Given the description of an element on the screen output the (x, y) to click on. 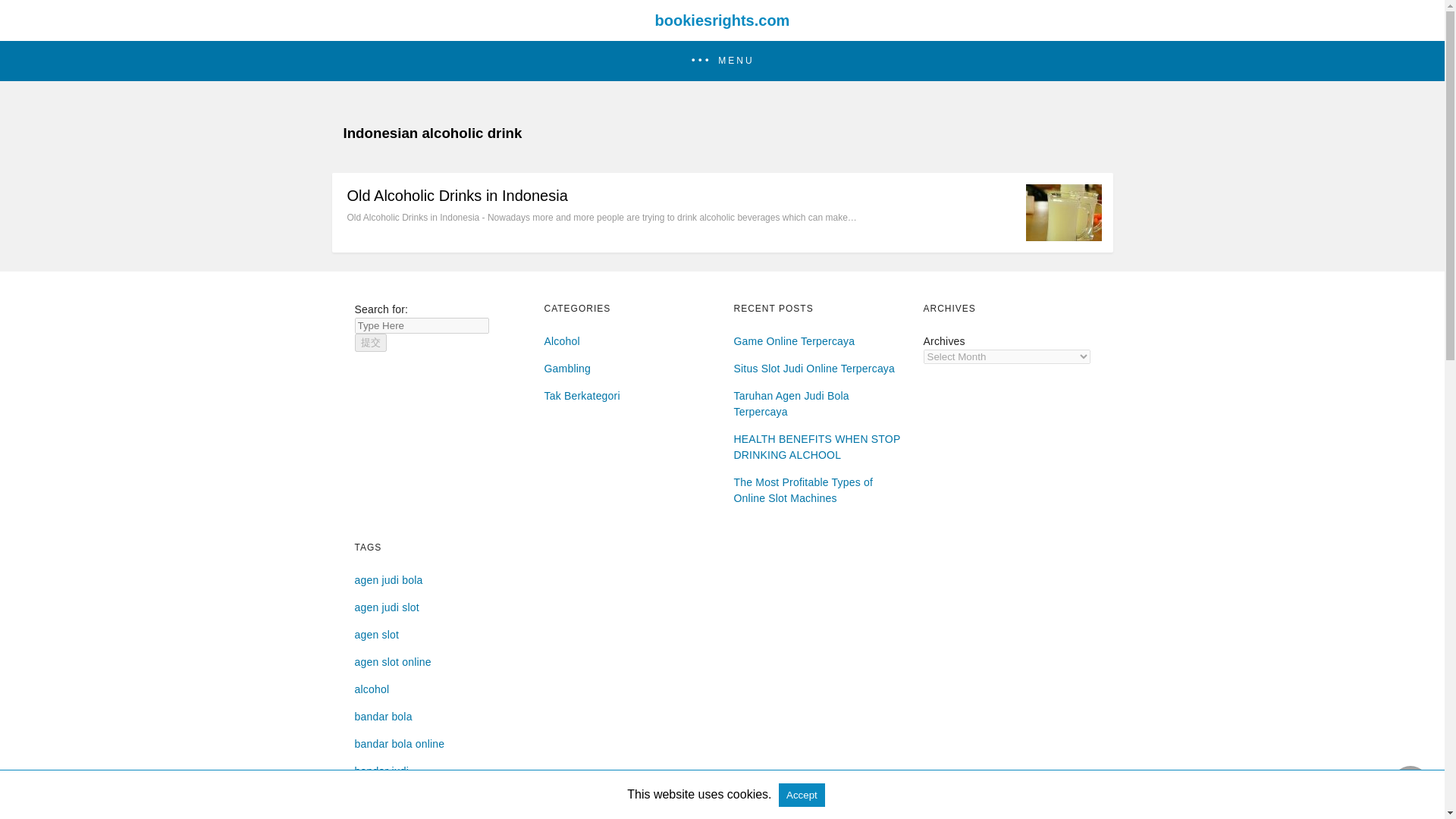
Old Alcoholic Drinks in Indonesia (457, 195)
bookiesrights.com (722, 20)
bandar bola online (400, 743)
bandar judi (382, 770)
Gambling (567, 368)
Alcohol (561, 340)
bandar judi bola (393, 798)
bandar bola (383, 716)
alcohol (372, 689)
agen slot online (392, 662)
